Given the description of an element on the screen output the (x, y) to click on. 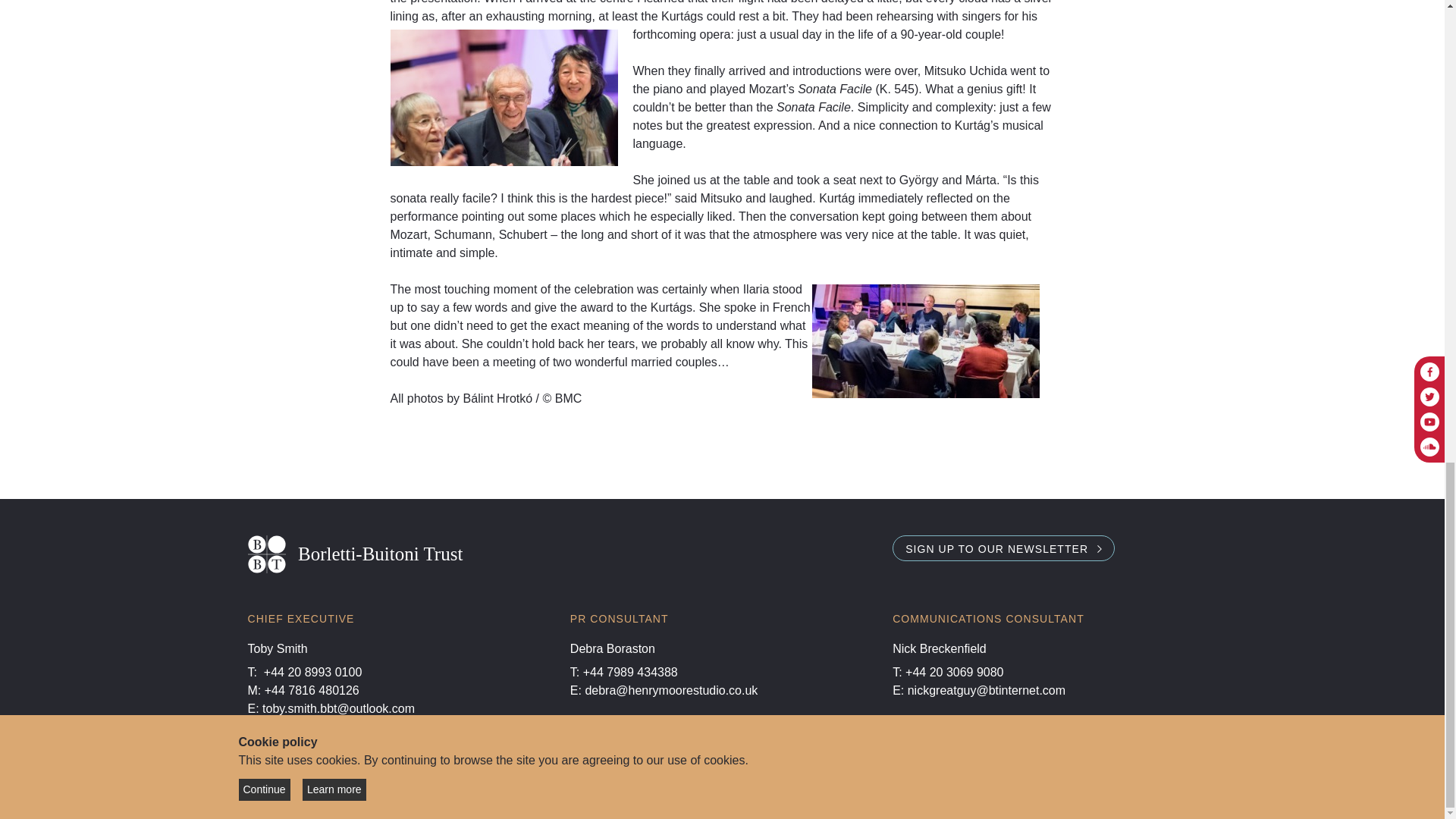
SIGN UP TO OUR NEWSLETTER (1003, 548)
Sitemap (415, 772)
Disclaimer (482, 772)
